Given the description of an element on the screen output the (x, y) to click on. 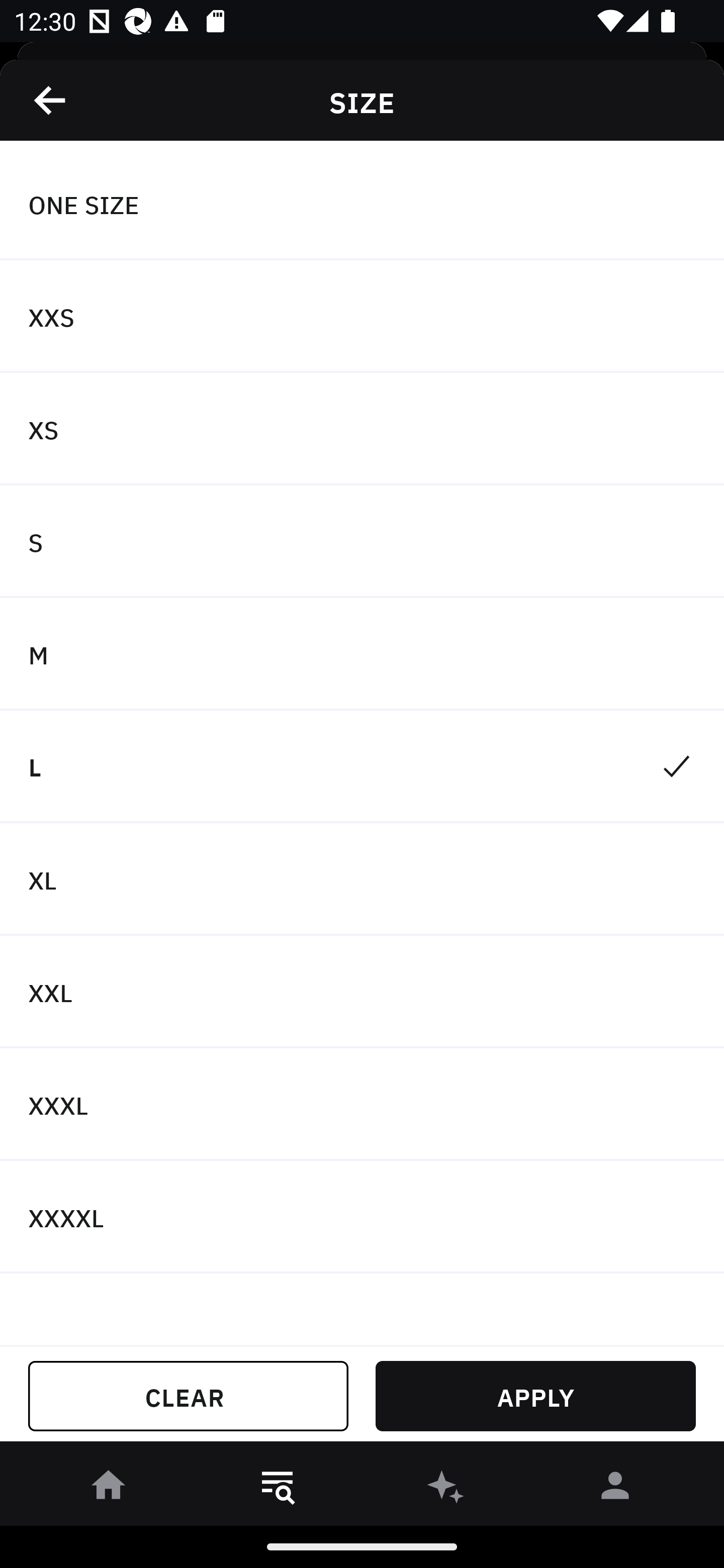
 (50, 100)
ONE SIZE (362, 203)
XXS (362, 316)
XS (362, 429)
S (362, 541)
M (362, 653)
L  (362, 766)
XL (362, 879)
XXL (362, 992)
XXXL (362, 1104)
XXXXL (362, 1216)
CLEAR  (188, 1396)
APPLY (535, 1396)
󰋜 (108, 1488)
󱎸 (277, 1488)
󰫢 (446, 1488)
󰀄 (615, 1488)
